Given the description of an element on the screen output the (x, y) to click on. 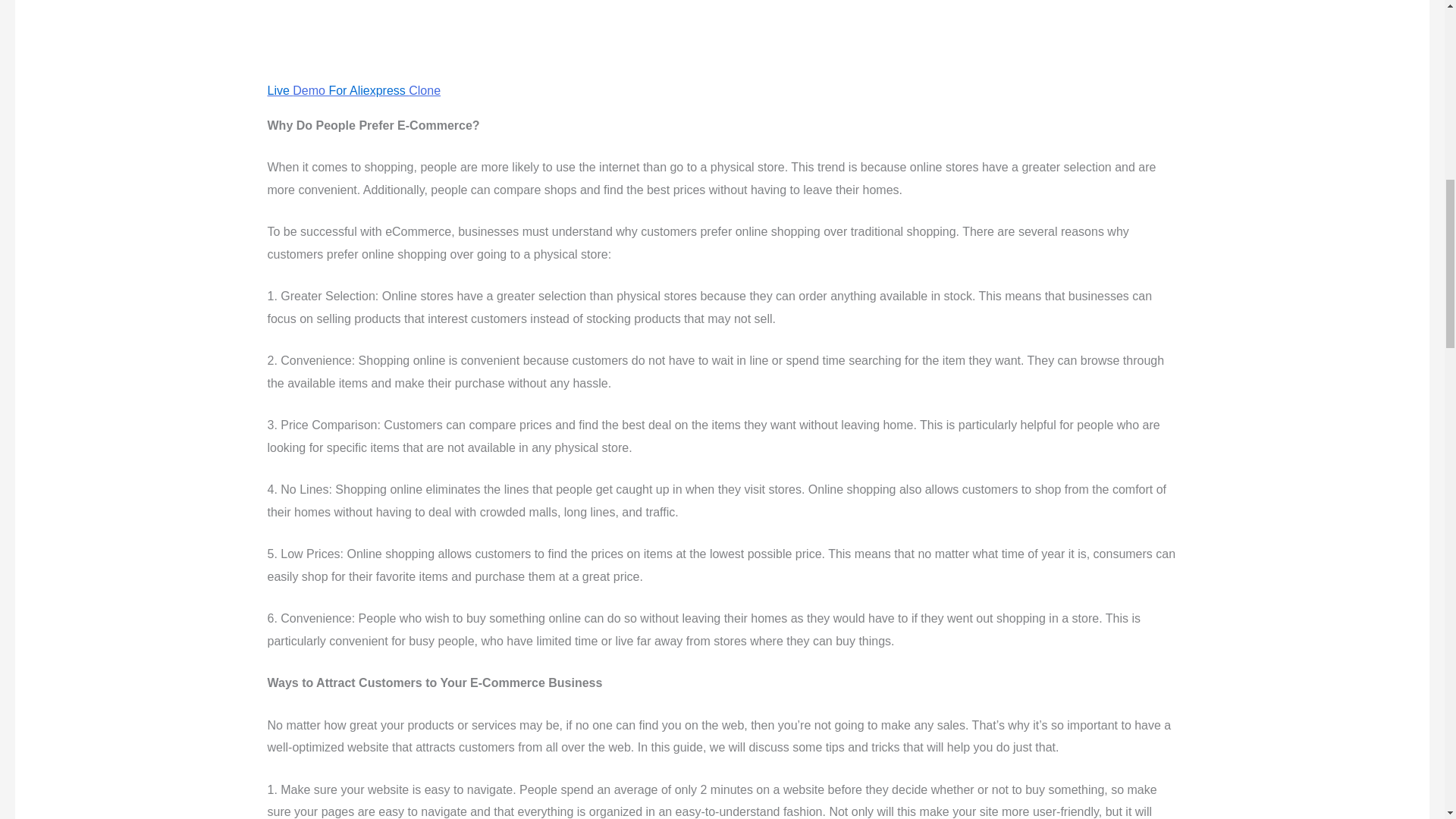
Clone (425, 90)
For Aliexpress (366, 90)
Live (279, 90)
Demo (308, 90)
